Given the description of an element on the screen output the (x, y) to click on. 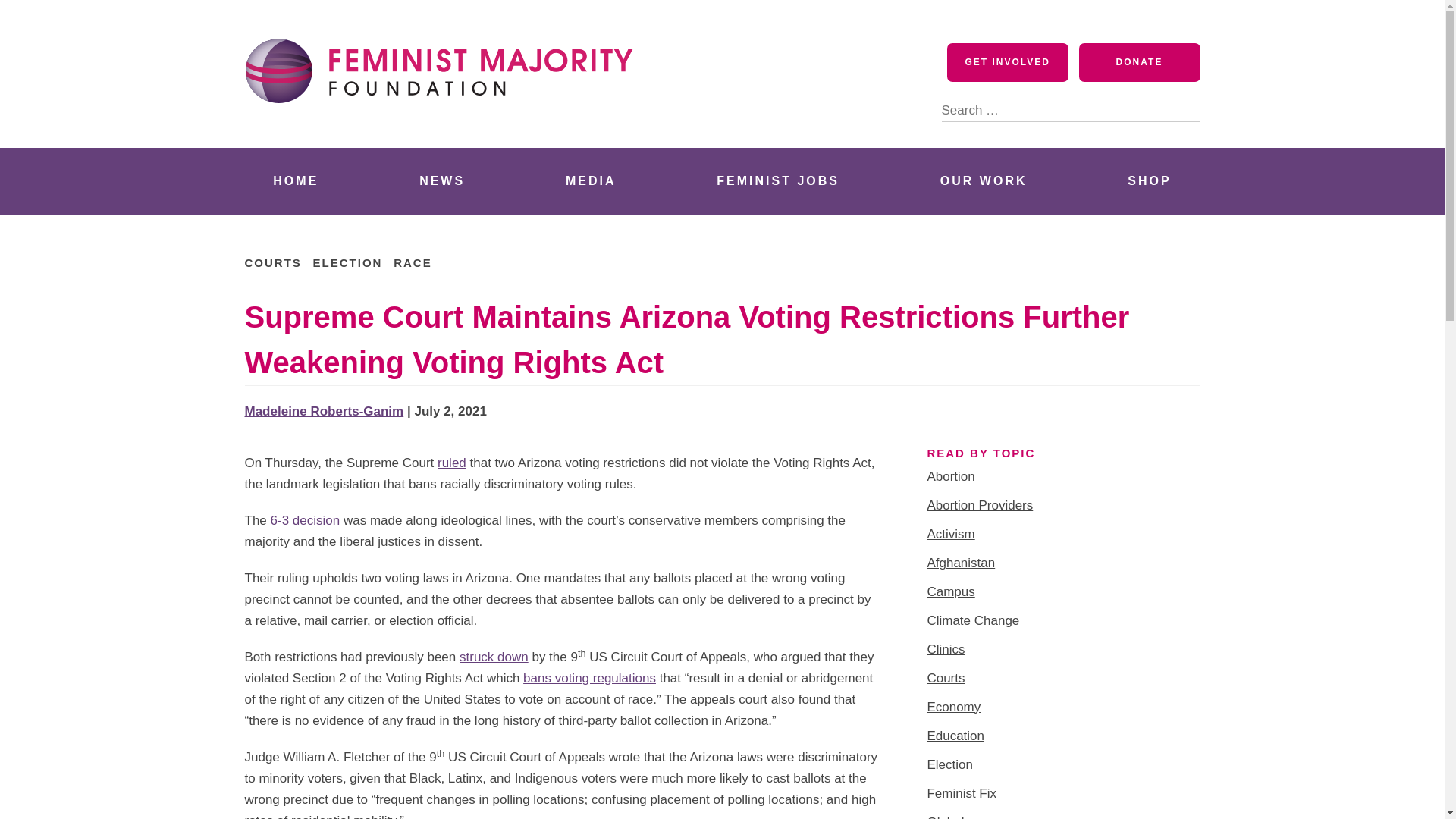
FEMINIST JOBS (777, 181)
Feminist Majority Foundation (445, 130)
bans voting regulations (589, 677)
ELECTION (347, 262)
Search (1187, 109)
ruled (451, 462)
Madeleine Roberts-Ganim (323, 411)
Posts by Madeleine Roberts-Ganim (323, 411)
MEDIA (591, 181)
OUR WORK (983, 181)
